Given the description of an element on the screen output the (x, y) to click on. 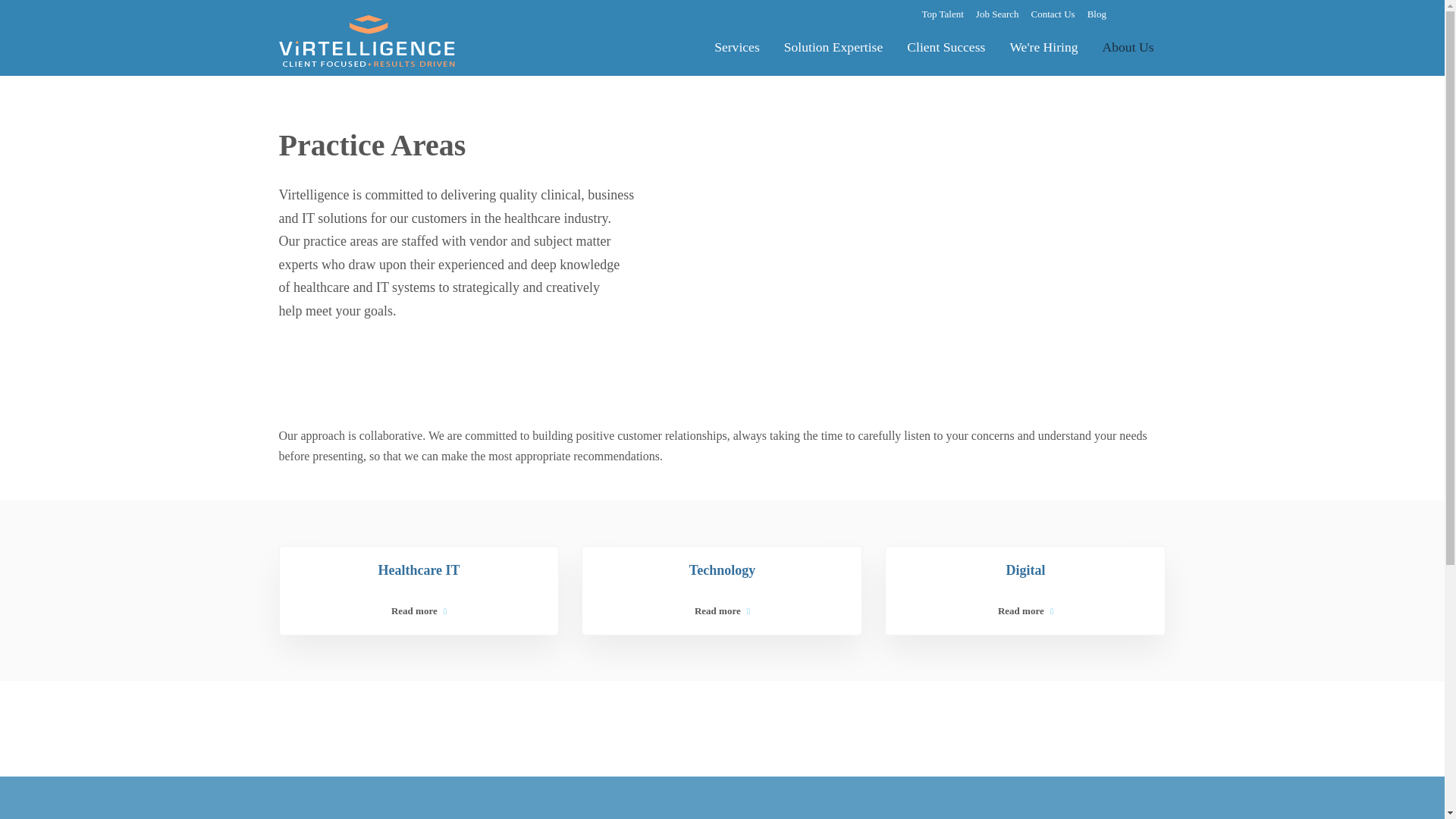
Services (736, 45)
We're Hiring (1043, 45)
Client Success (946, 45)
Contact Us (1052, 12)
Solution Expertise (833, 45)
Healthcare IT (418, 570)
Blog (1096, 12)
Job Search (997, 12)
About Us (1128, 45)
Top Talent (942, 12)
